Given the description of an element on the screen output the (x, y) to click on. 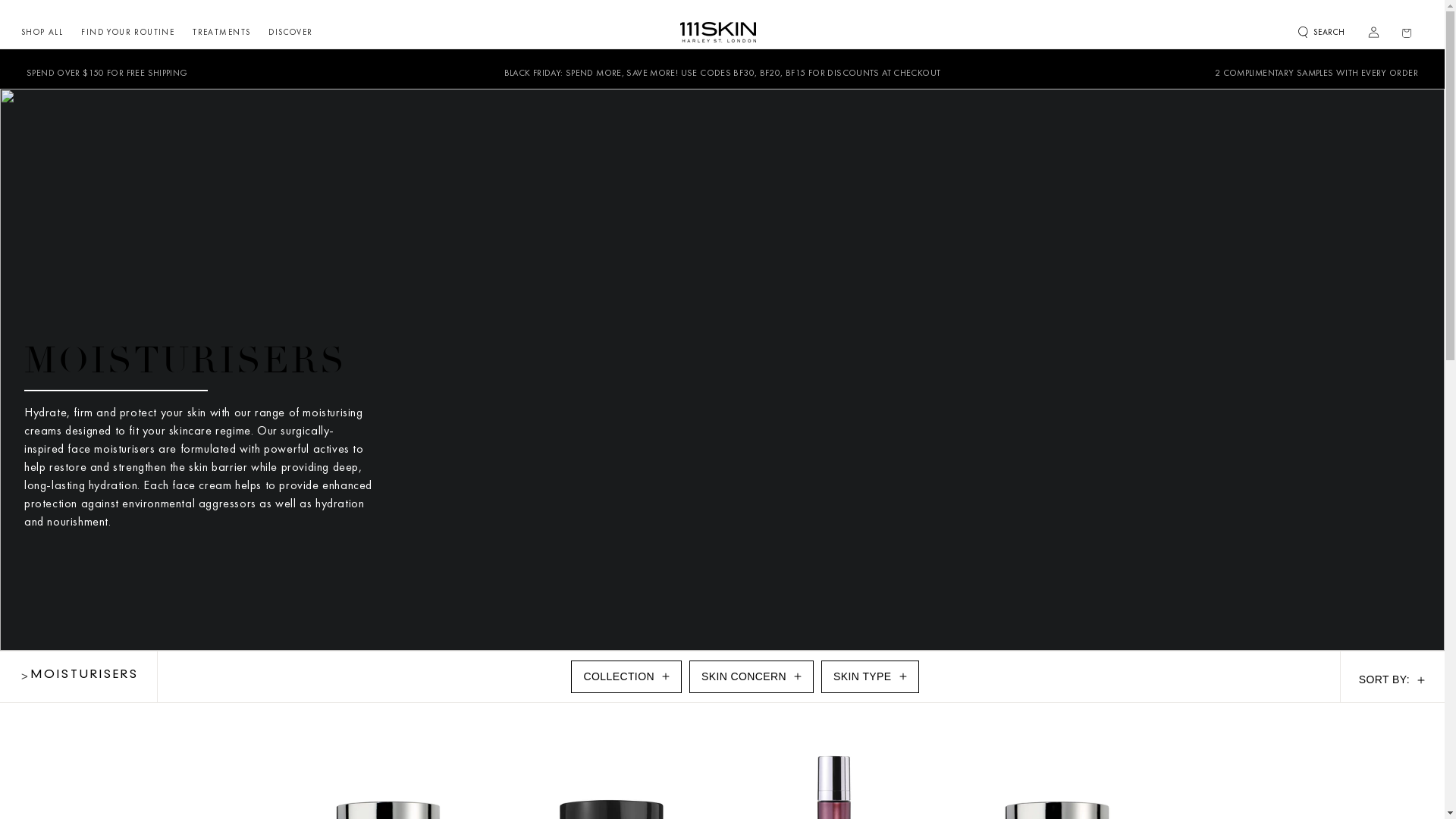
Skip to content Element type: text (46, 17)
Cart Element type: text (1406, 31)
SPEND OVER $150 FOR FREE SHIPPING Element type: text (107, 67)
FIND YOUR ROUTINE Element type: text (127, 31)
SHOP ALL Element type: text (42, 31)
Log in Element type: text (1373, 31)
TREATMENTS Element type: text (221, 31)
2 COMPLIMENTARY SAMPLES WITH EVERY ORDER Element type: text (1316, 67)
DISCOVER Element type: text (290, 31)
